Given the description of an element on the screen output the (x, y) to click on. 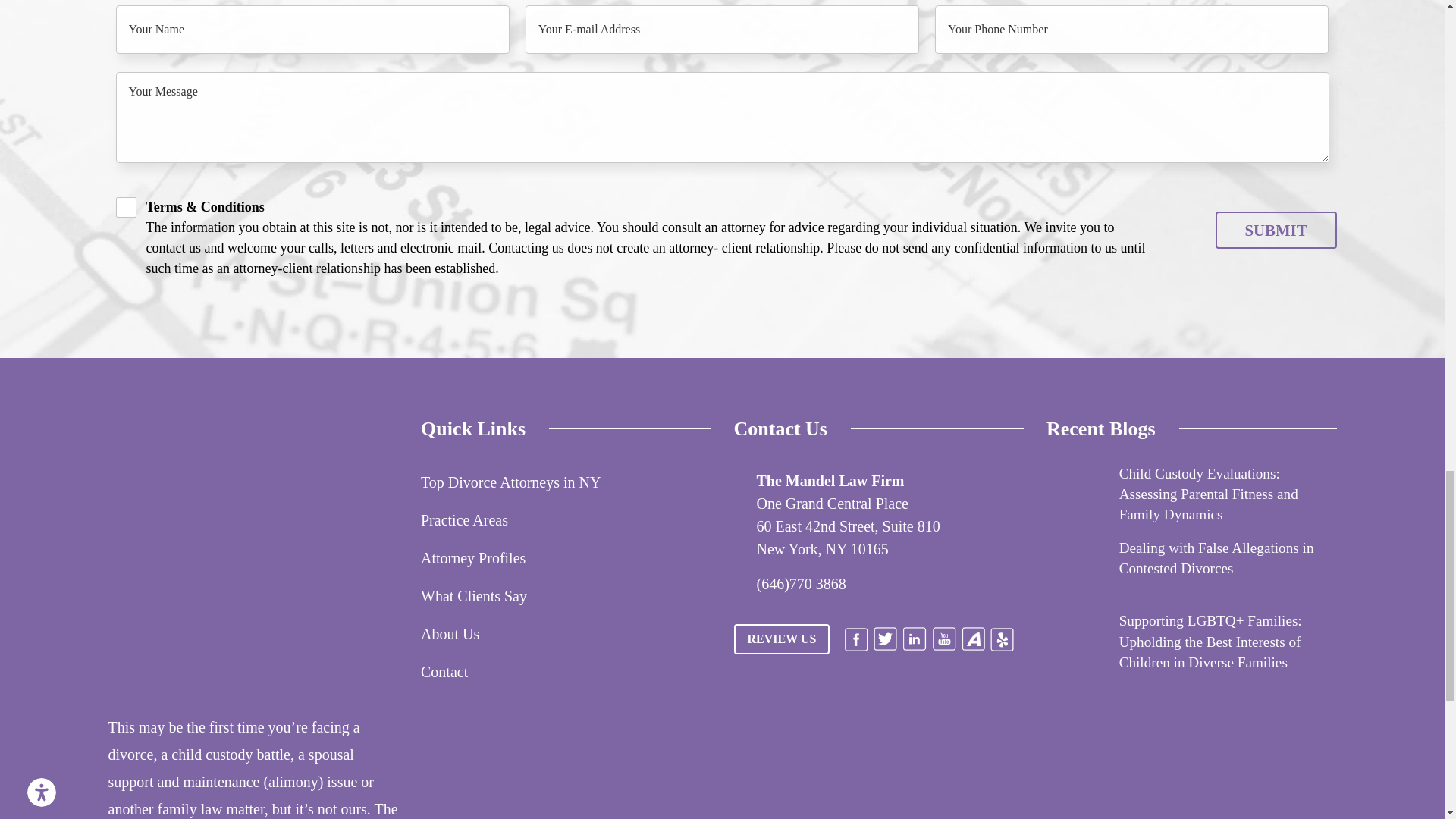
Submit (1275, 229)
Dealing with False Allegations in Contested Divorces (1077, 567)
